Given the description of an element on the screen output the (x, y) to click on. 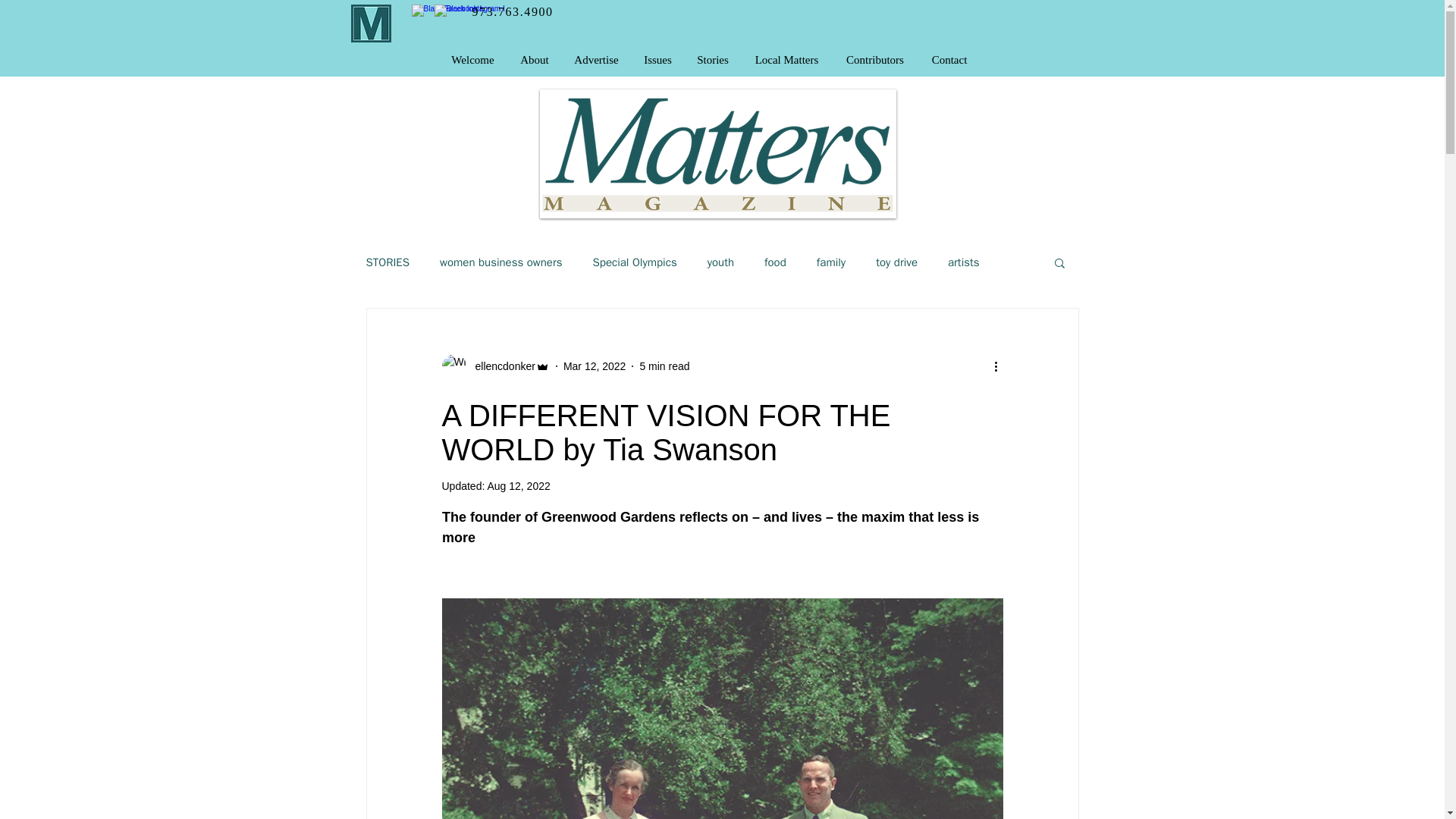
Special Olympics (634, 261)
Aug 12, 2022 (518, 485)
STORIES (387, 261)
matters magazine (370, 23)
About (534, 59)
food (775, 261)
ellencdonker (499, 365)
Advertise (595, 59)
Stories (712, 59)
family (830, 261)
Contributors (875, 59)
Local Matters (786, 59)
5 min read (663, 365)
Issues (657, 59)
Contact (948, 59)
